Given the description of an element on the screen output the (x, y) to click on. 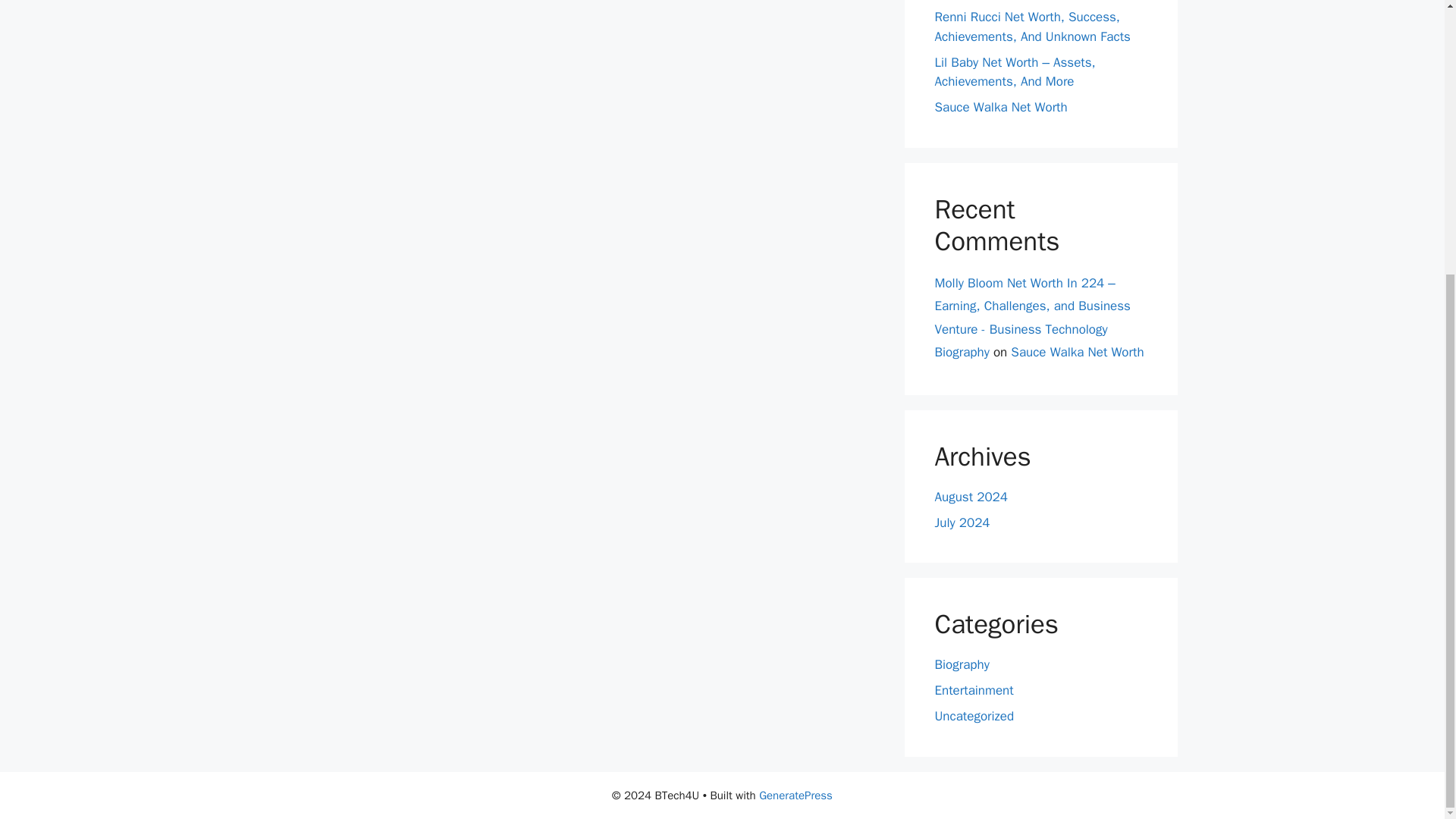
Sauce Walka Net Worth (1000, 107)
August 2024 (970, 496)
July 2024 (962, 522)
Entertainment (973, 690)
GeneratePress (795, 795)
Sauce Walka Net Worth (1076, 351)
Uncategorized (973, 715)
Biography (961, 664)
